Given the description of an element on the screen output the (x, y) to click on. 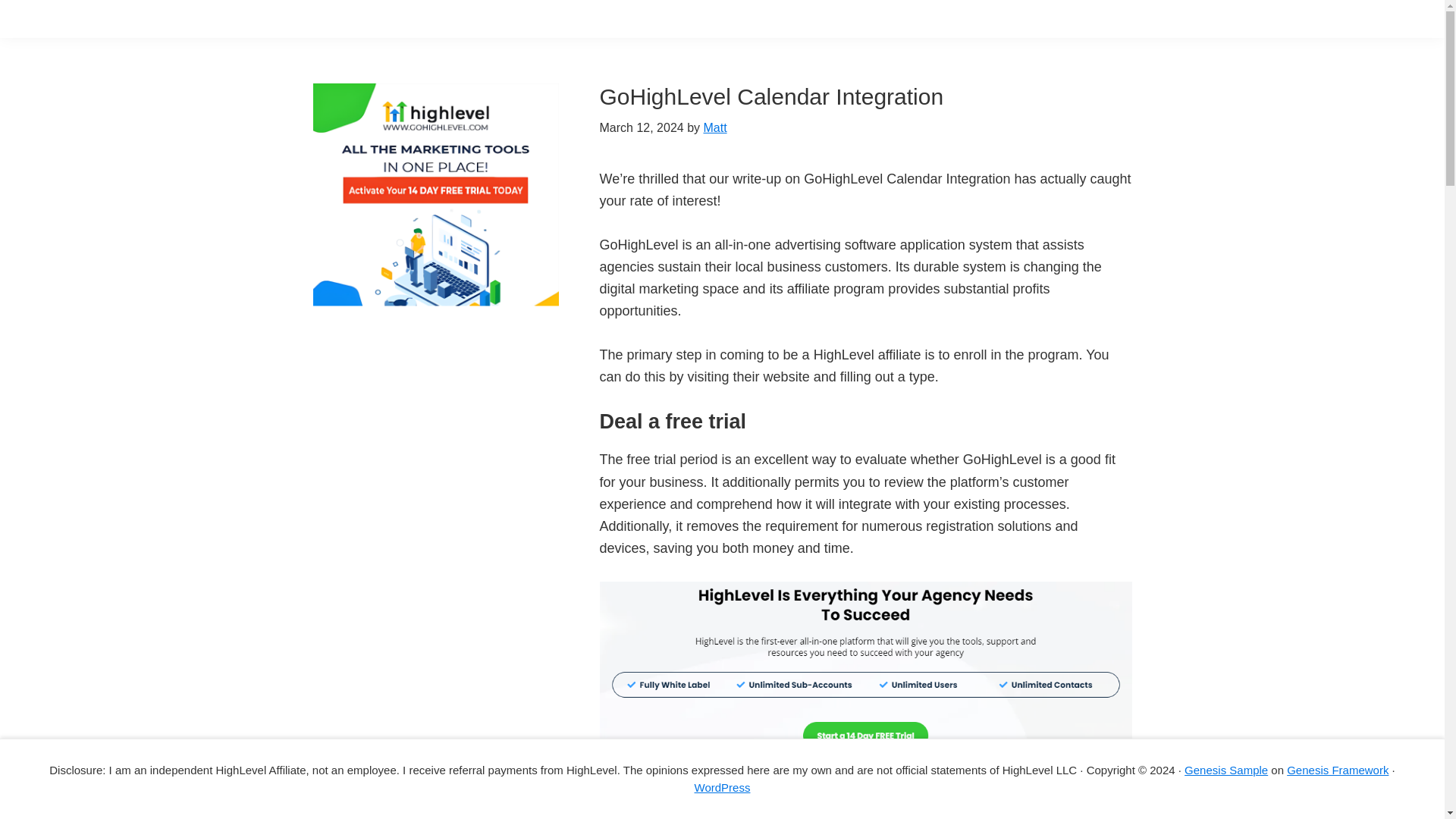
Matt (714, 127)
Genesis Sample (1226, 769)
Genesis Framework (1338, 769)
WordPress (722, 787)
